Given the description of an element on the screen output the (x, y) to click on. 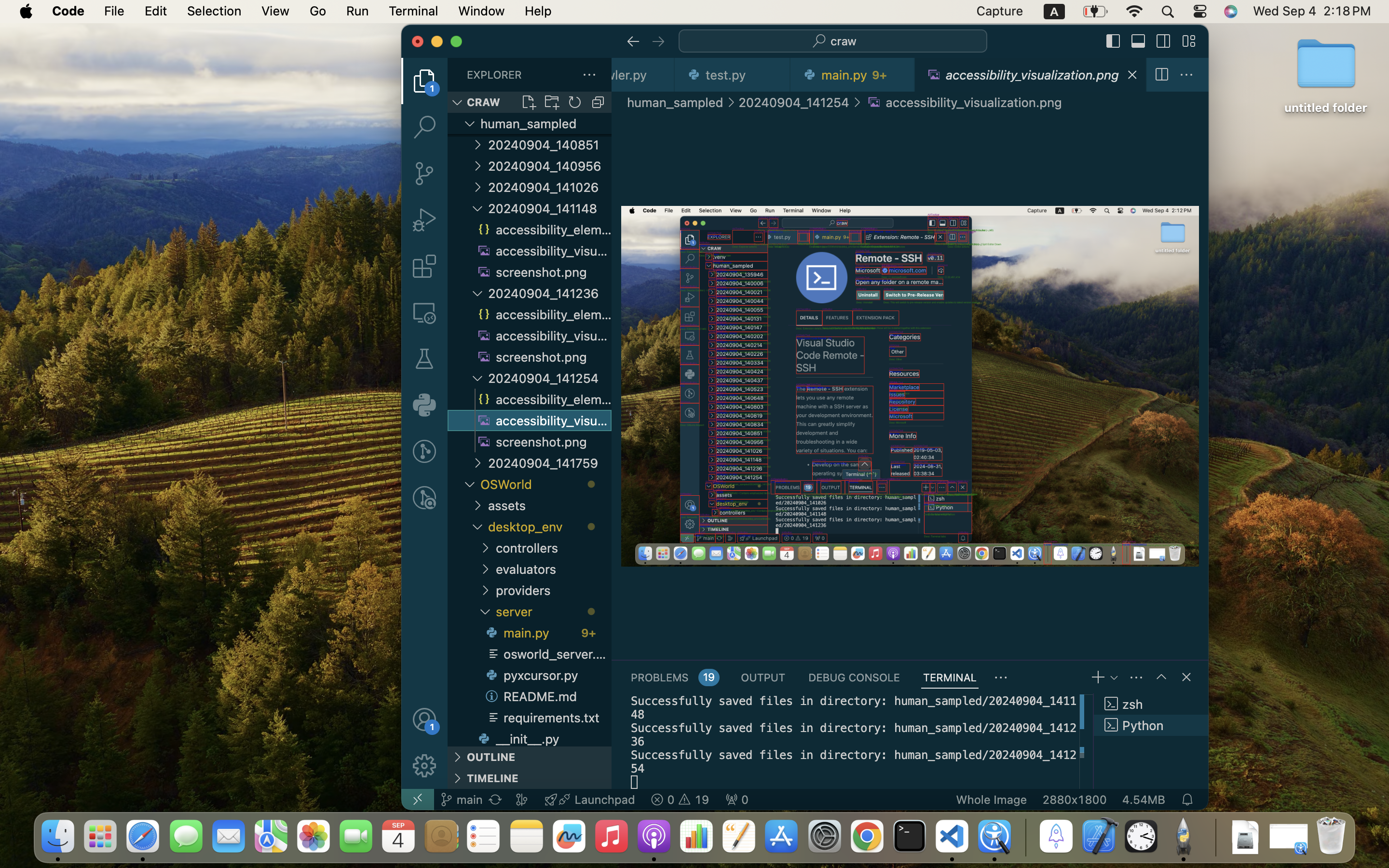
 Element type: AXCheckBox (1113, 41)
desktop_env  Element type: AXGroup (549, 526)
20240904_141148 Element type: AXGroup (549, 207)
pyxcursor.py  Element type: AXGroup (546, 674)
Launchpad   Element type: AXButton (589, 799)
